Given the description of an element on the screen output the (x, y) to click on. 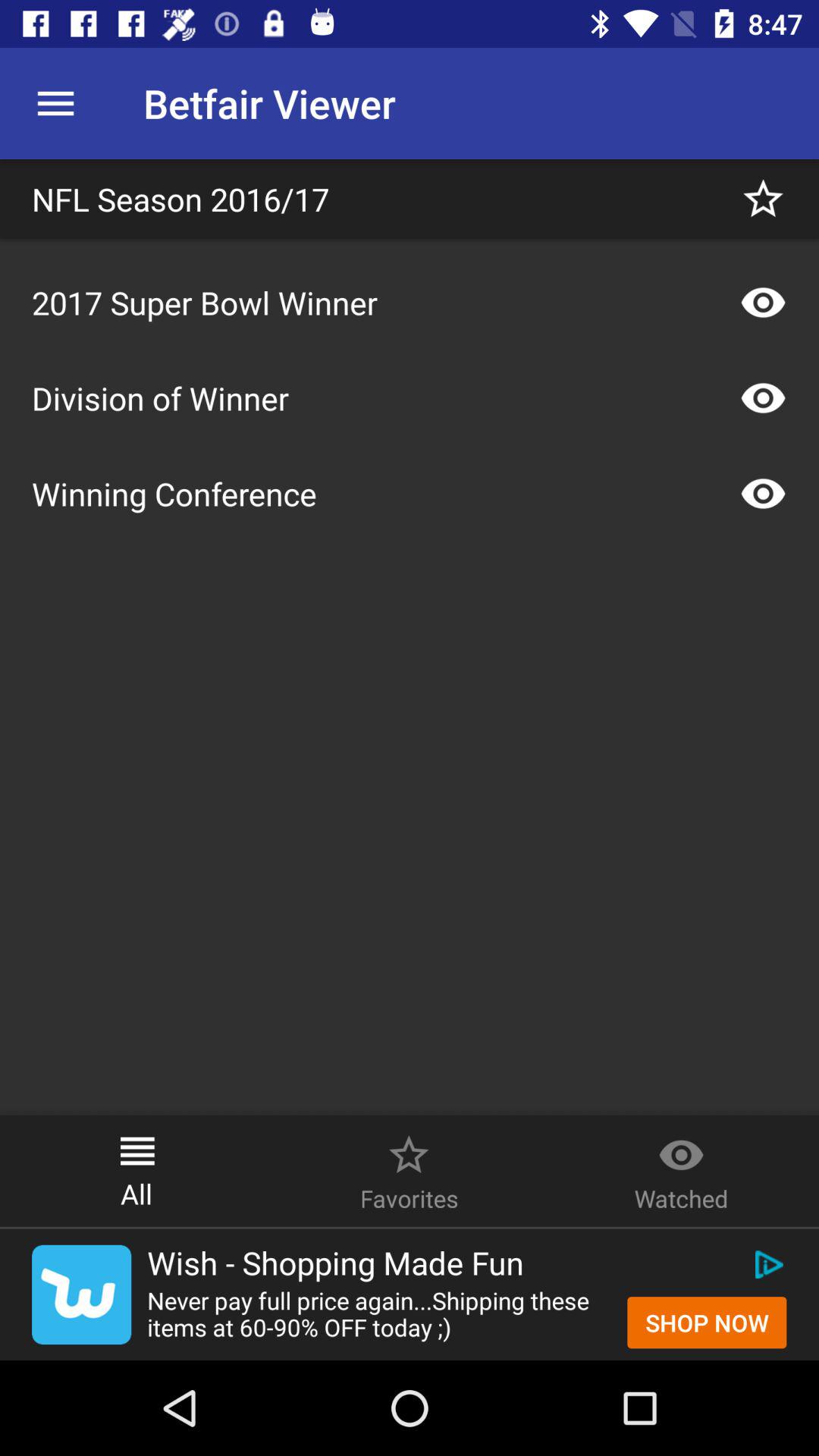
toggle watch option (763, 397)
